Given the description of an element on the screen output the (x, y) to click on. 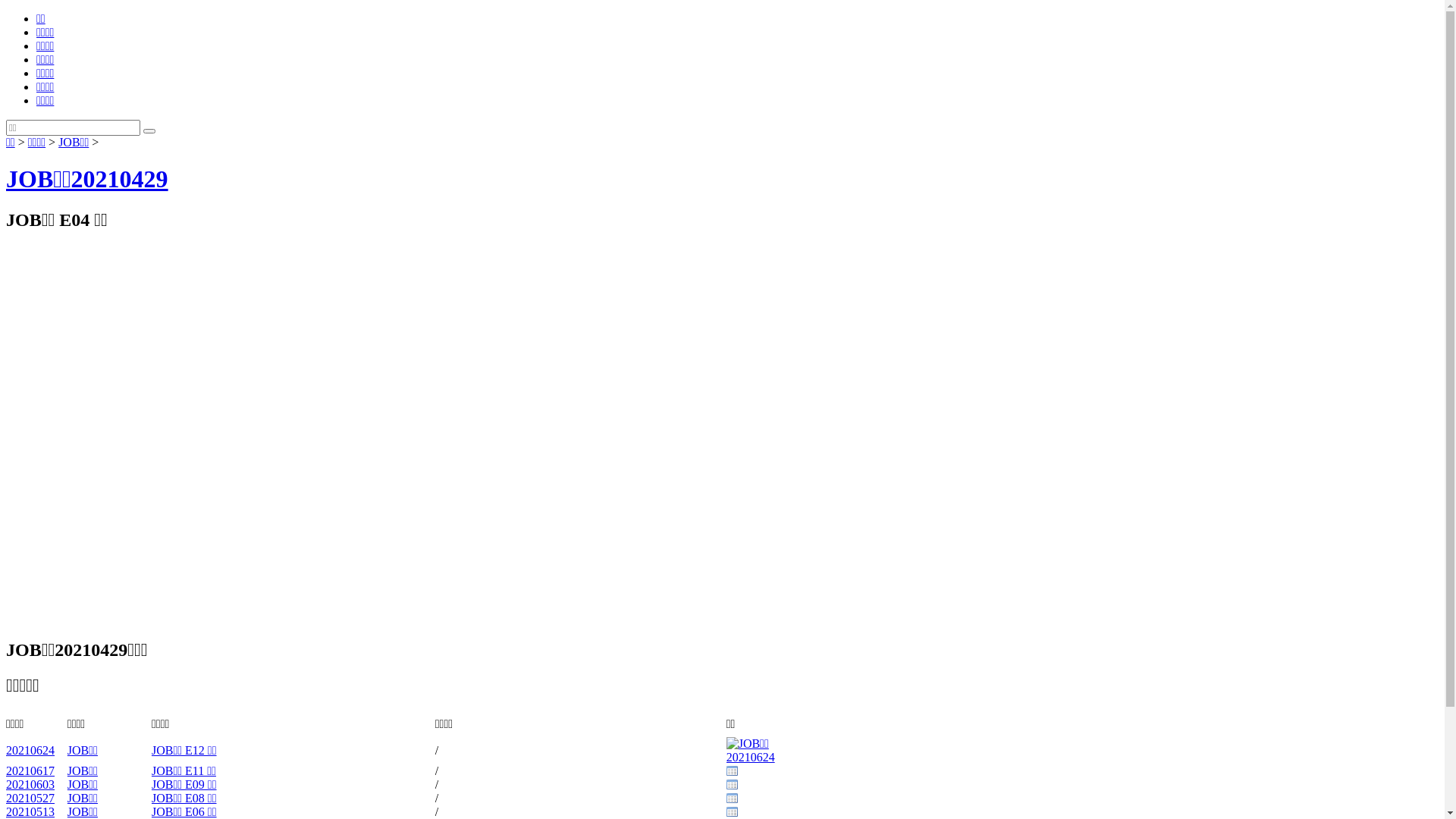
20210603 Element type: text (30, 784)
20210617 Element type: text (30, 770)
/ Element type: text (436, 784)
/ Element type: text (436, 770)
/ Element type: text (436, 797)
20210624 Element type: text (30, 749)
/ Element type: text (436, 811)
20210513 Element type: text (30, 811)
/ Element type: text (436, 749)
20210527 Element type: text (30, 797)
